Given the description of an element on the screen output the (x, y) to click on. 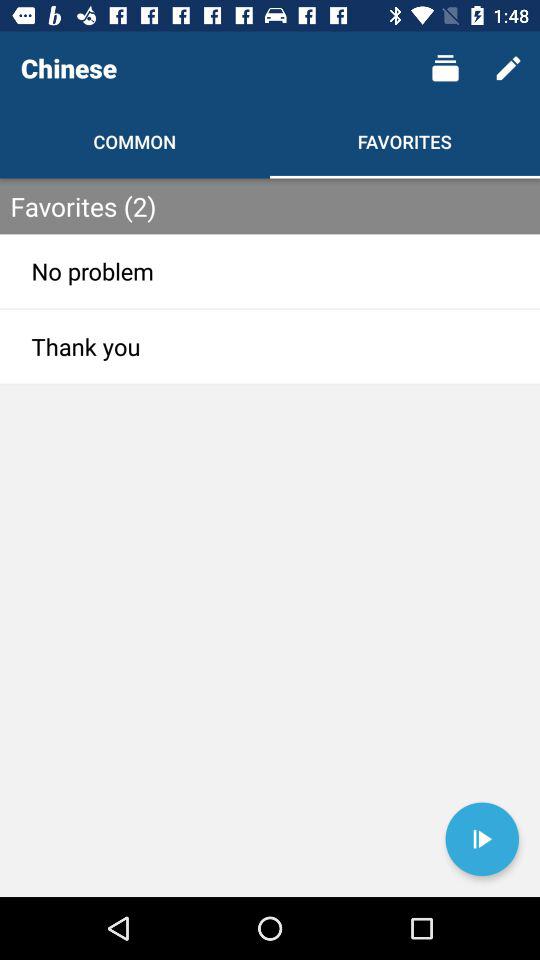
choose the icon above favorites (2) item (508, 67)
